Given the description of an element on the screen output the (x, y) to click on. 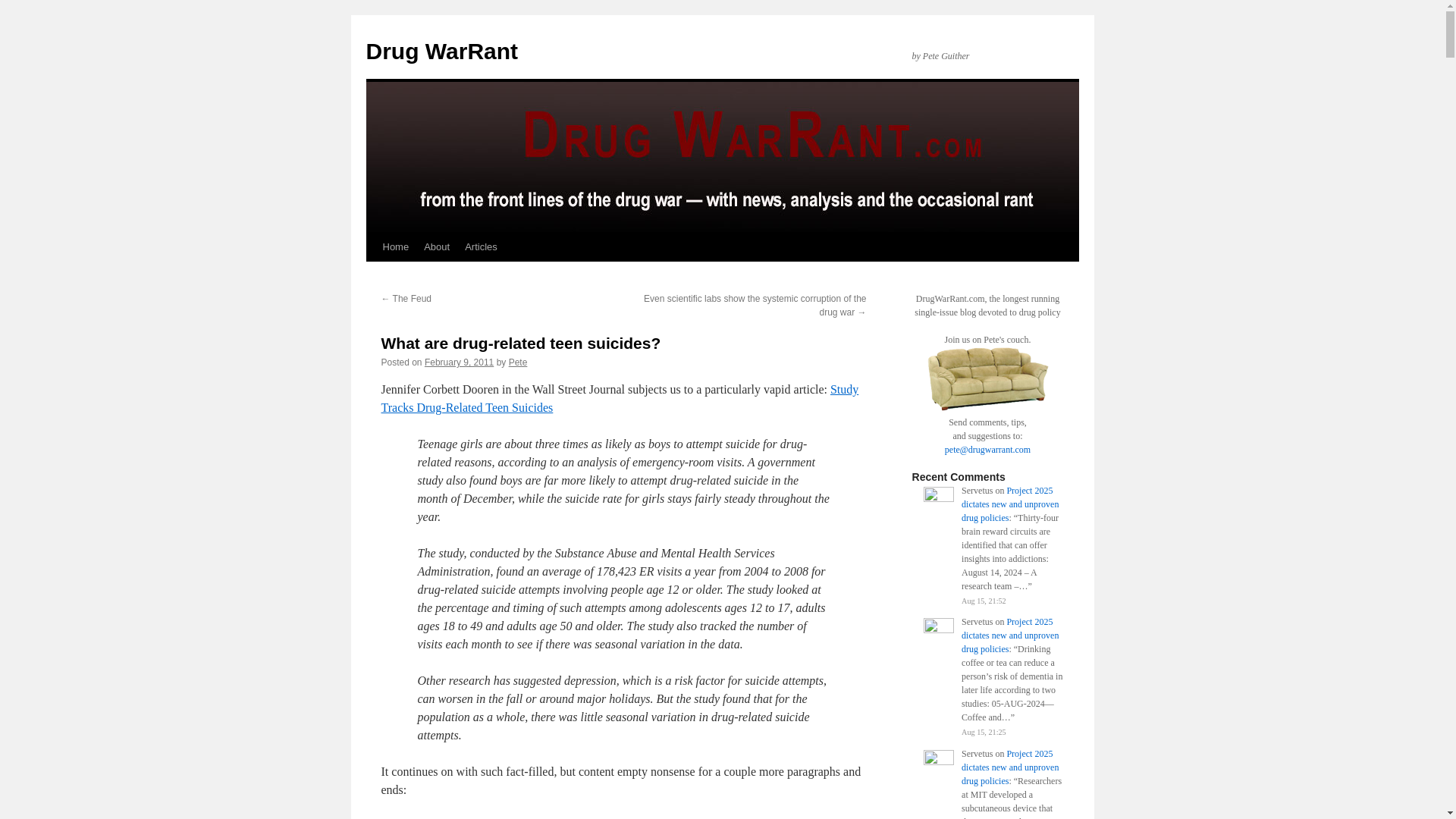
Articles (481, 246)
February 9, 2011 (459, 362)
View all posts by Pete (517, 362)
About (436, 246)
Drug WarRant (441, 50)
7:20 pm (459, 362)
Home (395, 246)
Study Tracks Drug-Related Teen Suicides (619, 398)
Pete (517, 362)
